Given the description of an element on the screen output the (x, y) to click on. 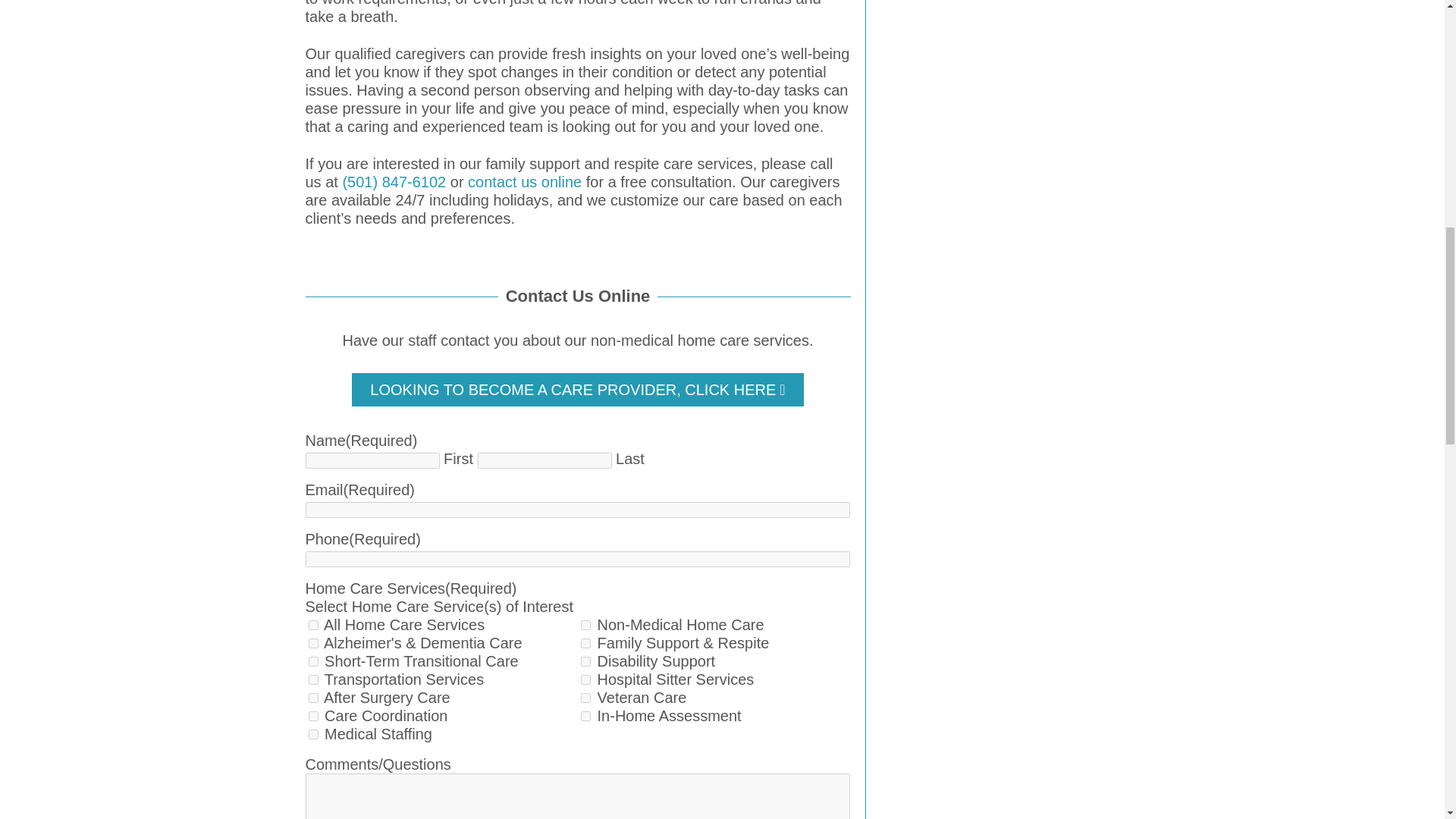
Care Coordination (312, 716)
Transportation Services (312, 679)
After Surgery Care (312, 697)
Medical Staffing (312, 734)
Disability Support (585, 661)
All Home Care Services (312, 624)
In-Home Assessment (585, 716)
Short-Term Transitional Care (312, 661)
Veteran Care (585, 697)
Non-Medical Home Care (585, 624)
